Given the description of an element on the screen output the (x, y) to click on. 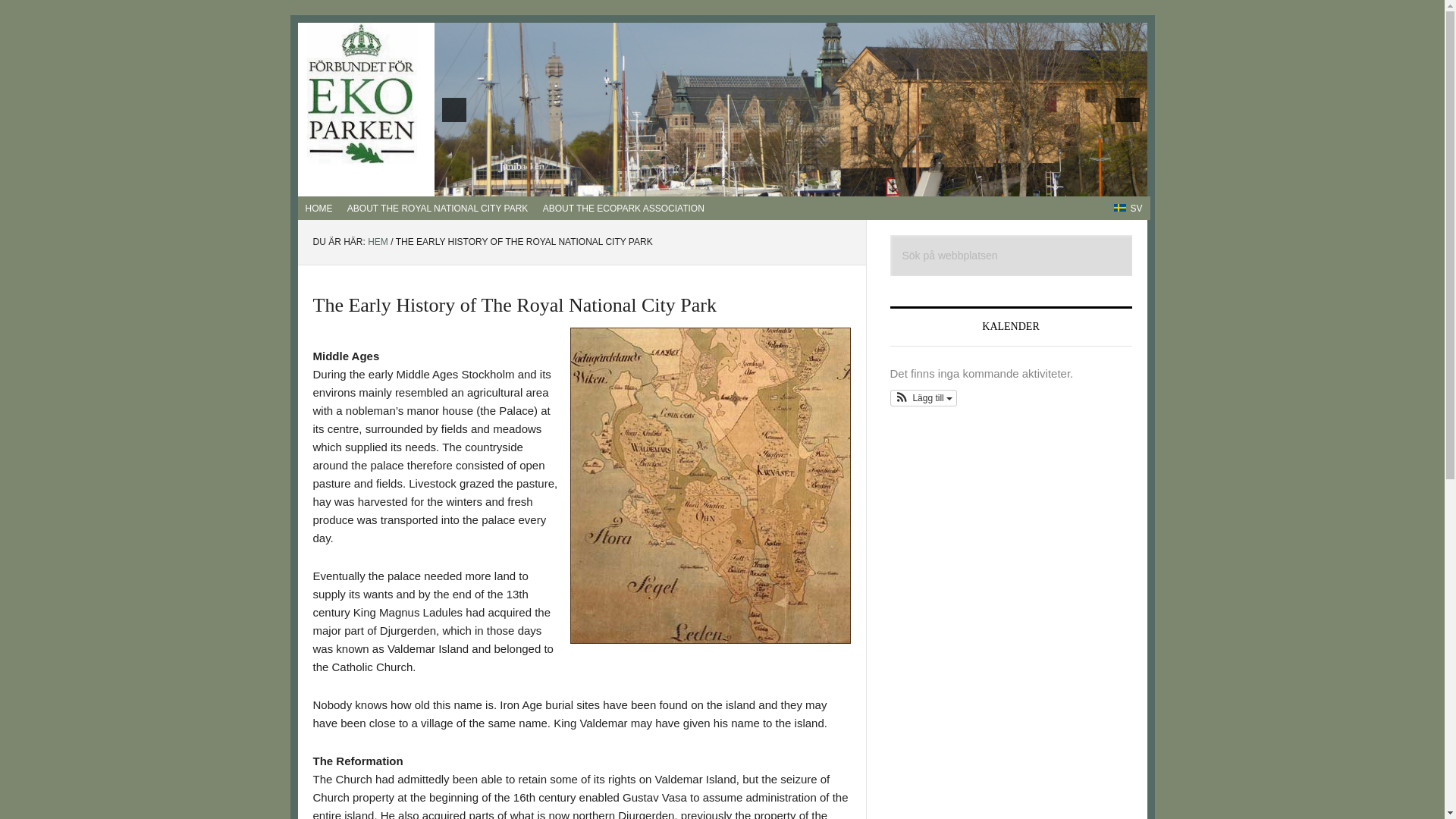
HOME (318, 208)
SV (1128, 208)
HEM (378, 241)
ABOUT THE ECOPARK ASSOCIATION (623, 208)
EKOPARKEN (361, 93)
ABOUT THE ROYAL NATIONAL CITY PARK (437, 208)
